Given the description of an element on the screen output the (x, y) to click on. 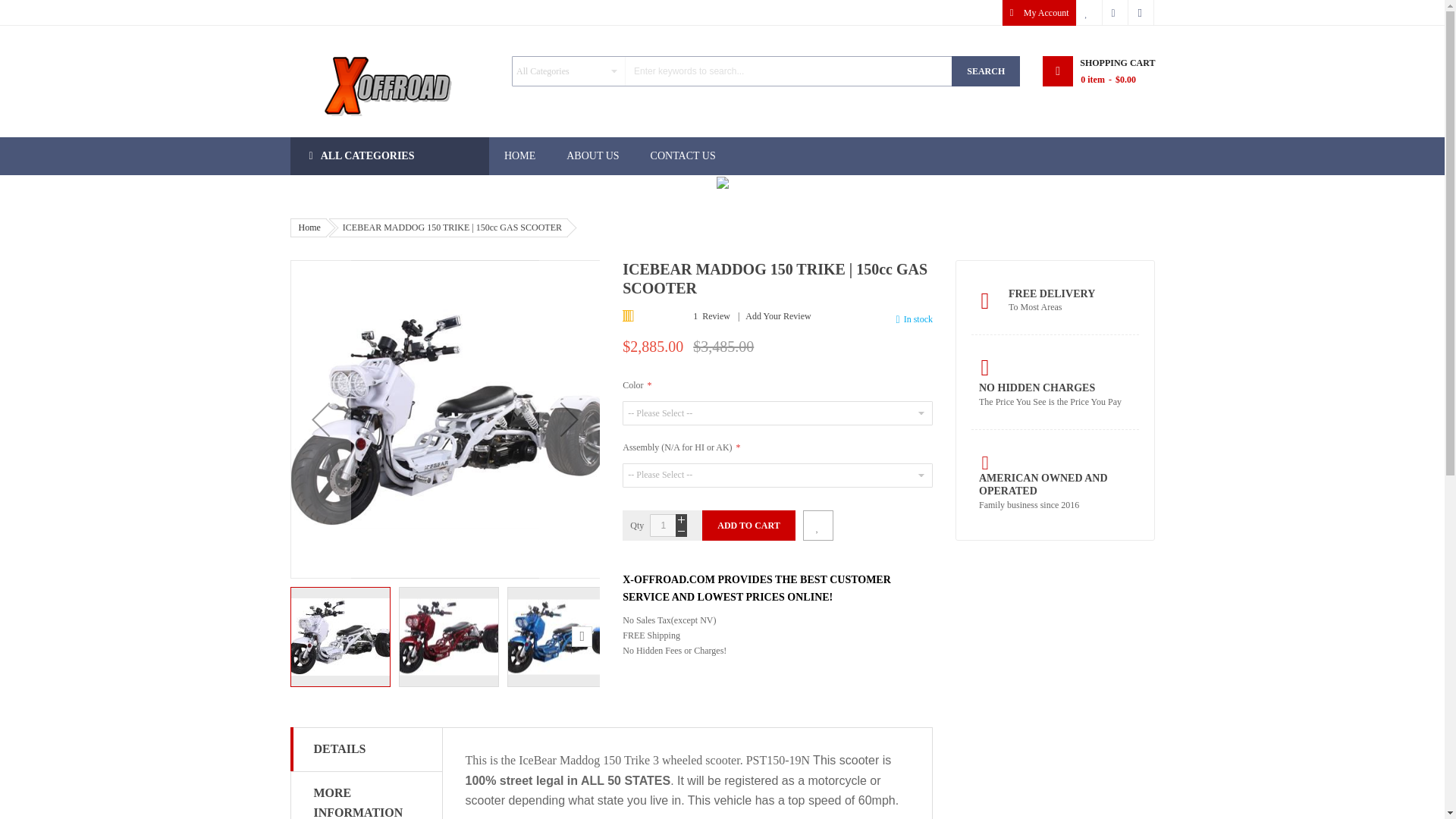
Checkout (1115, 12)
Home (309, 227)
My Wish List (1089, 12)
Go to Home Page (309, 227)
CONTACT US (682, 156)
ALL CATEGORIES (389, 156)
Add to Wish List (817, 525)
ADD TO CART (747, 525)
Search (986, 71)
SEARCH (986, 71)
My Account (1039, 12)
ABOUT US (592, 156)
All Categories (389, 156)
Add to Cart (747, 525)
Checkout (1115, 12)
